Given the description of an element on the screen output the (x, y) to click on. 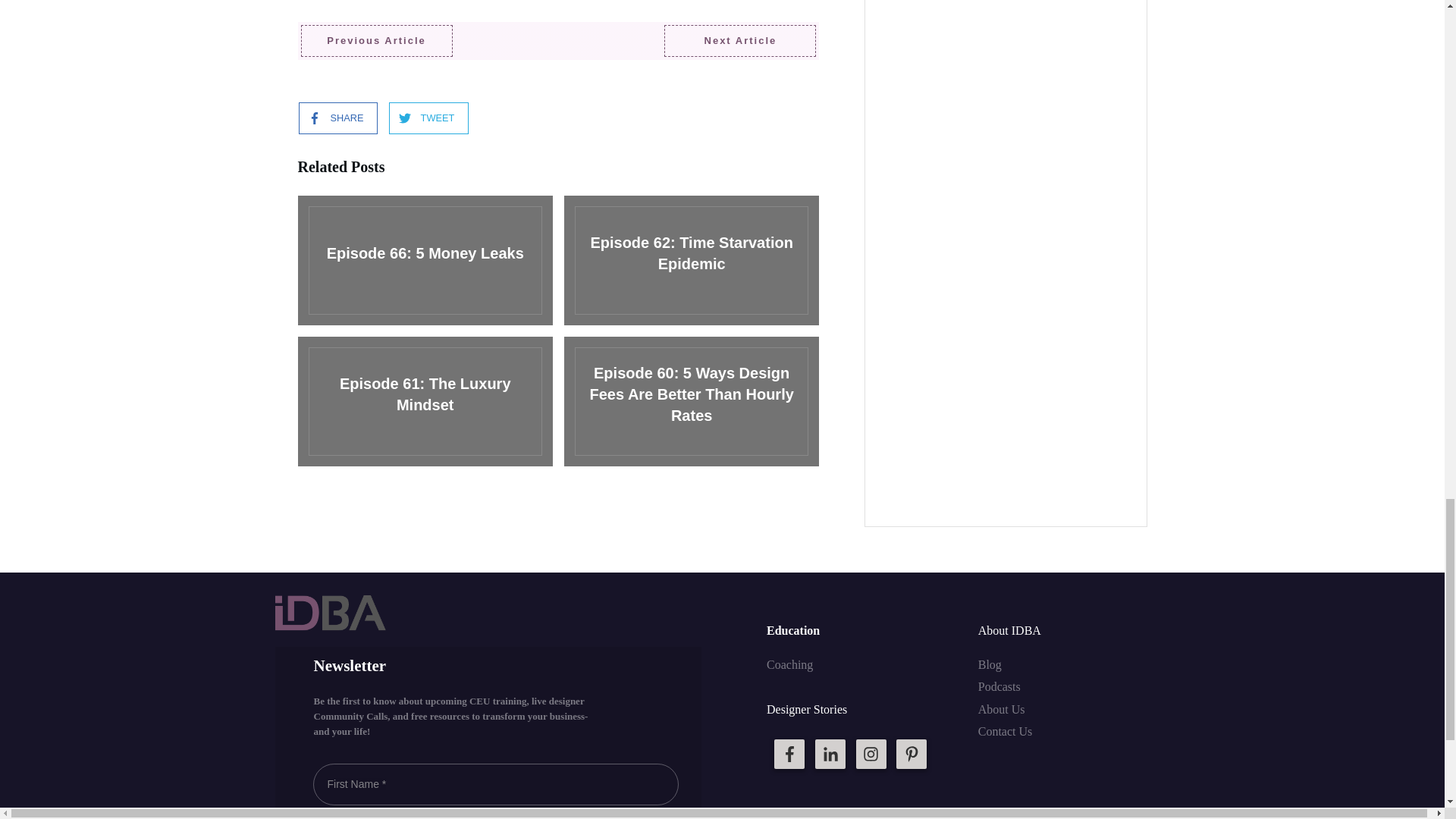
Episode 60: 5 Ways Design Fees Are Better Than Hourly Rates (691, 401)
Episode 66: 5 Money Leaks (424, 260)
Next Article (739, 40)
Episode 61: The Luxury Mindset (424, 401)
Previous Article (375, 40)
Episode 62: Time Starvation Epidemic (691, 260)
Logo (330, 612)
SHARE (330, 118)
TWEET (422, 118)
